Given the description of an element on the screen output the (x, y) to click on. 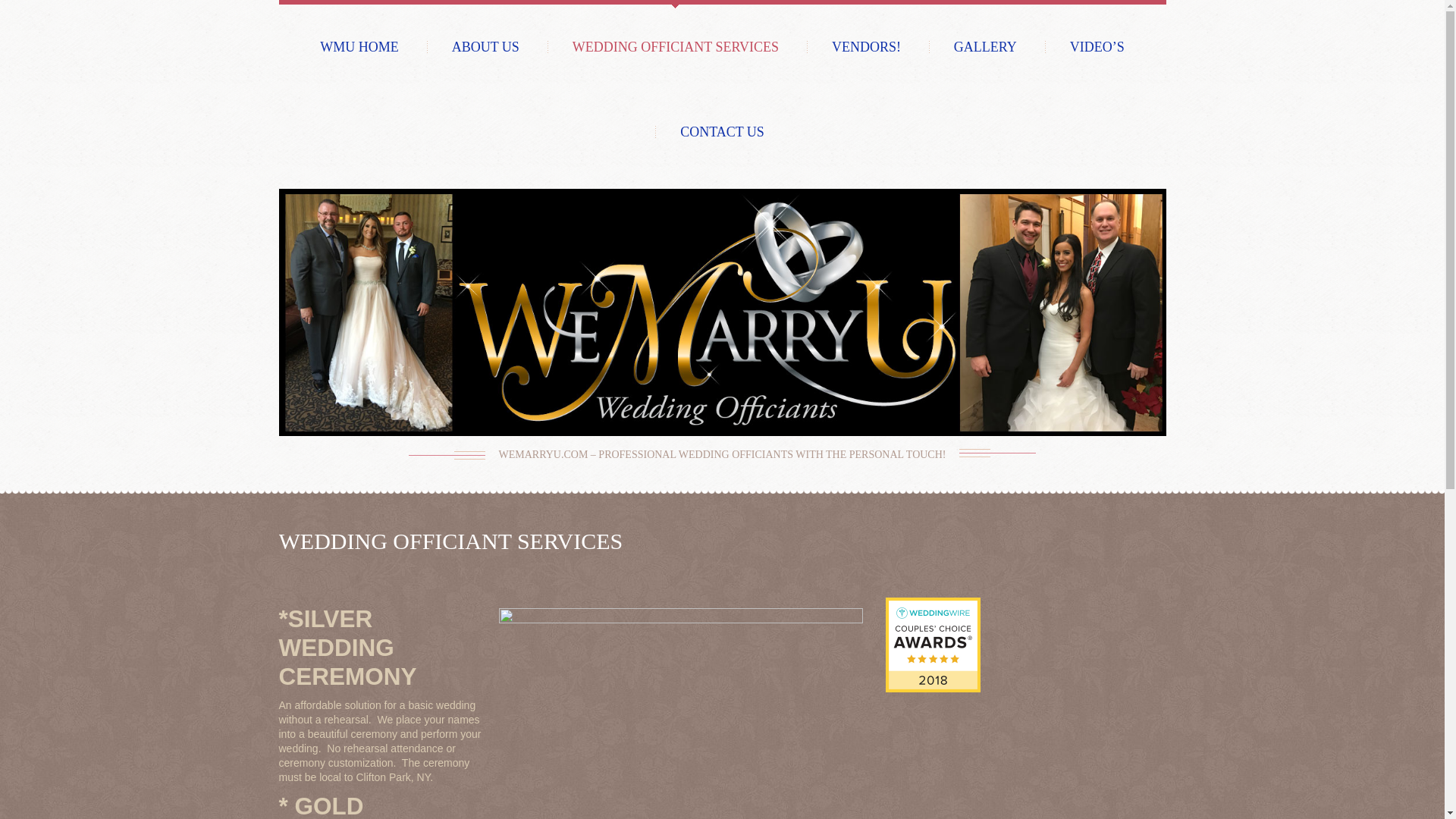
CONTACT US (721, 131)
WeMarryU, WeddingWire Couples' Choice Award Winner 2018 (932, 644)
ABOUT US (485, 46)
WEDDING OFFICIANT SERVICES (675, 46)
VENDORS! (866, 46)
GALLERY (984, 46)
WMU HOME (359, 46)
